Given the description of an element on the screen output the (x, y) to click on. 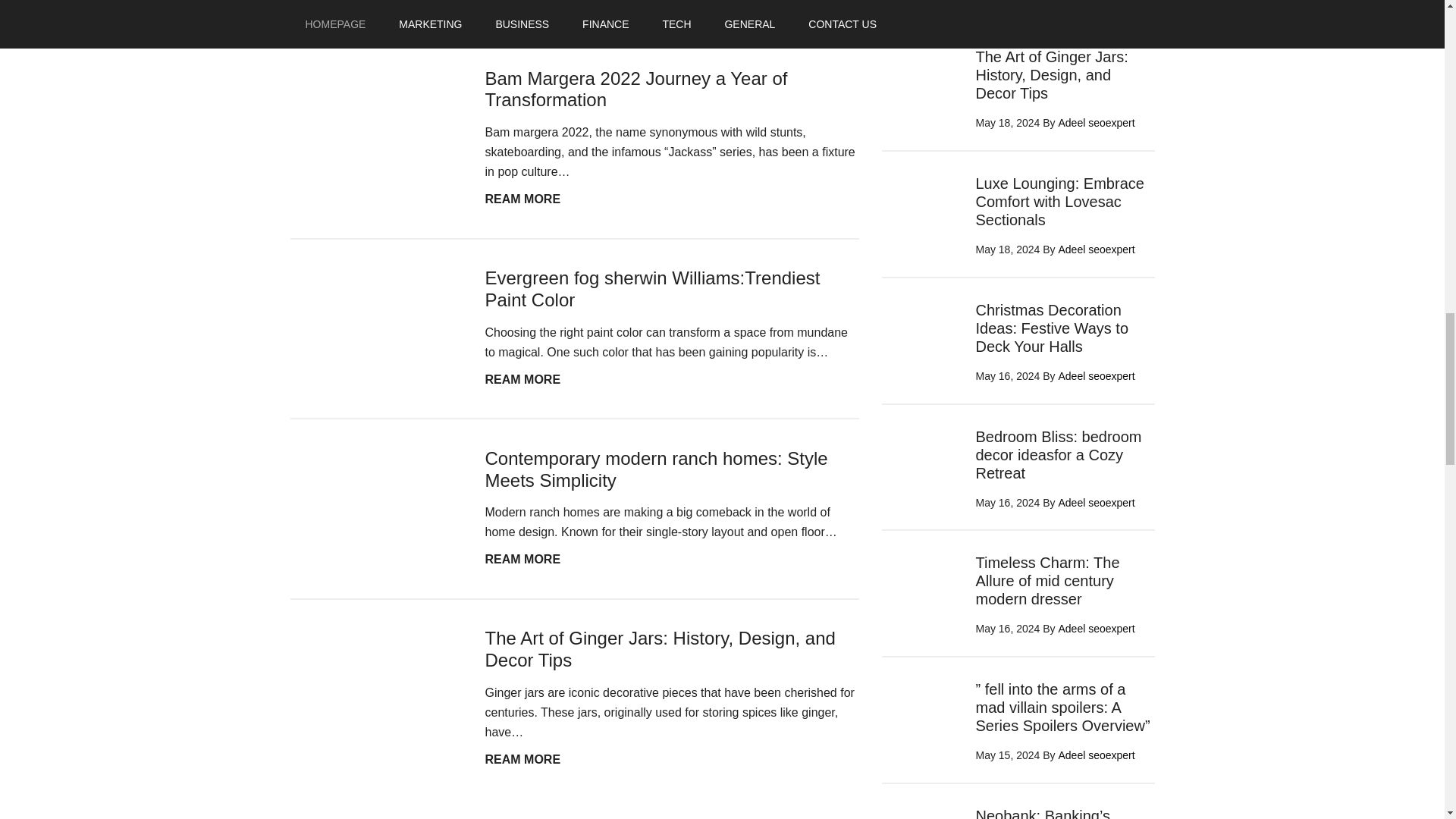
Homepage 6 (374, 115)
Homepage 7 (374, 315)
Homepage 8 (522, 199)
Bam Margera 2022 Journey a Year of Transformation (374, 495)
Homepage 9 (635, 88)
Evergreen fog sherwin Williams:Trendiest Paint Color (374, 675)
Contemporary modern ranch homes: Style Meets Simplicity (652, 288)
The Art of Ginger Jars: History, Design, and Decor Tips (656, 468)
